Given the description of an element on the screen output the (x, y) to click on. 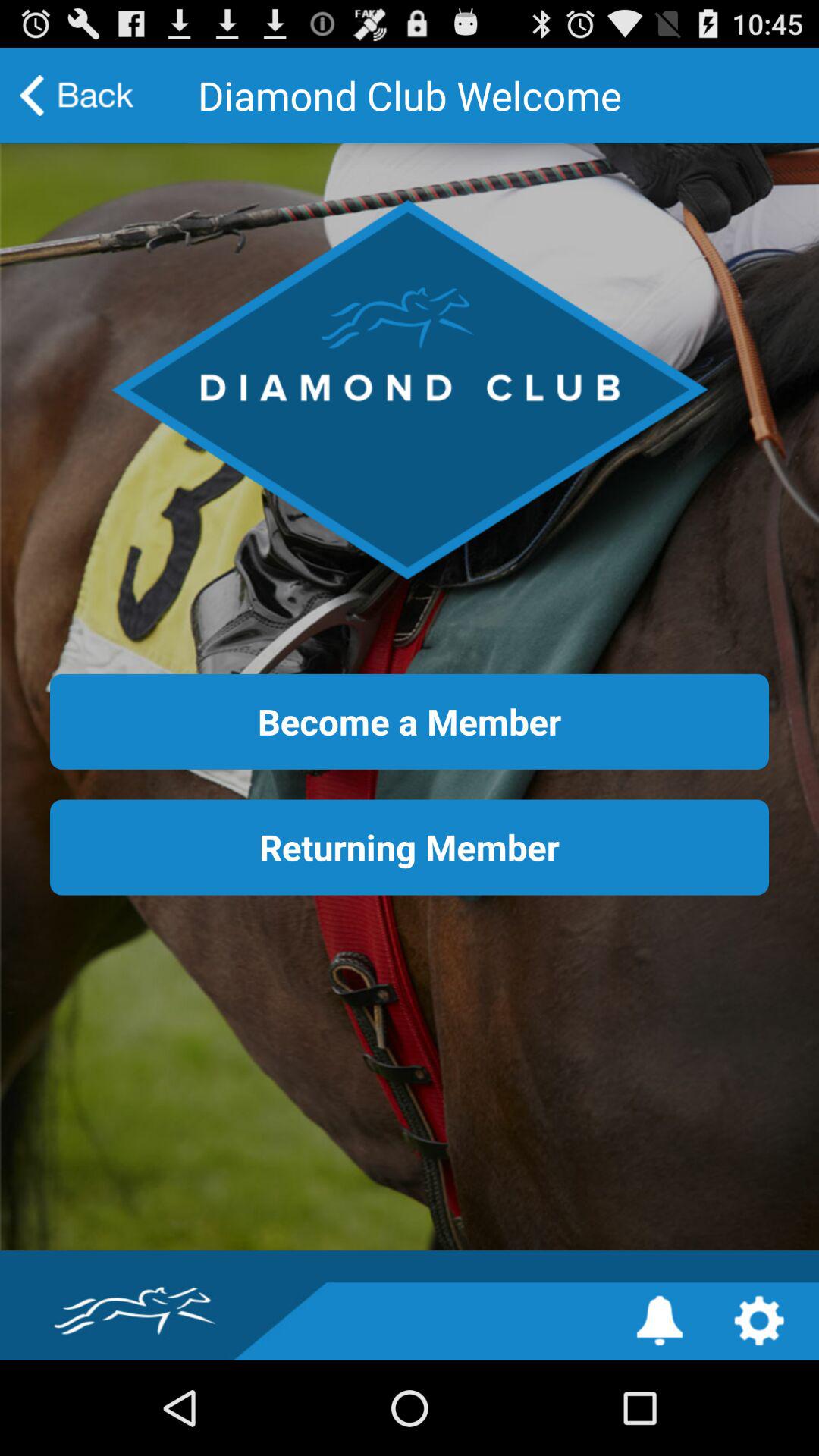
click to the settings (759, 1320)
